Given the description of an element on the screen output the (x, y) to click on. 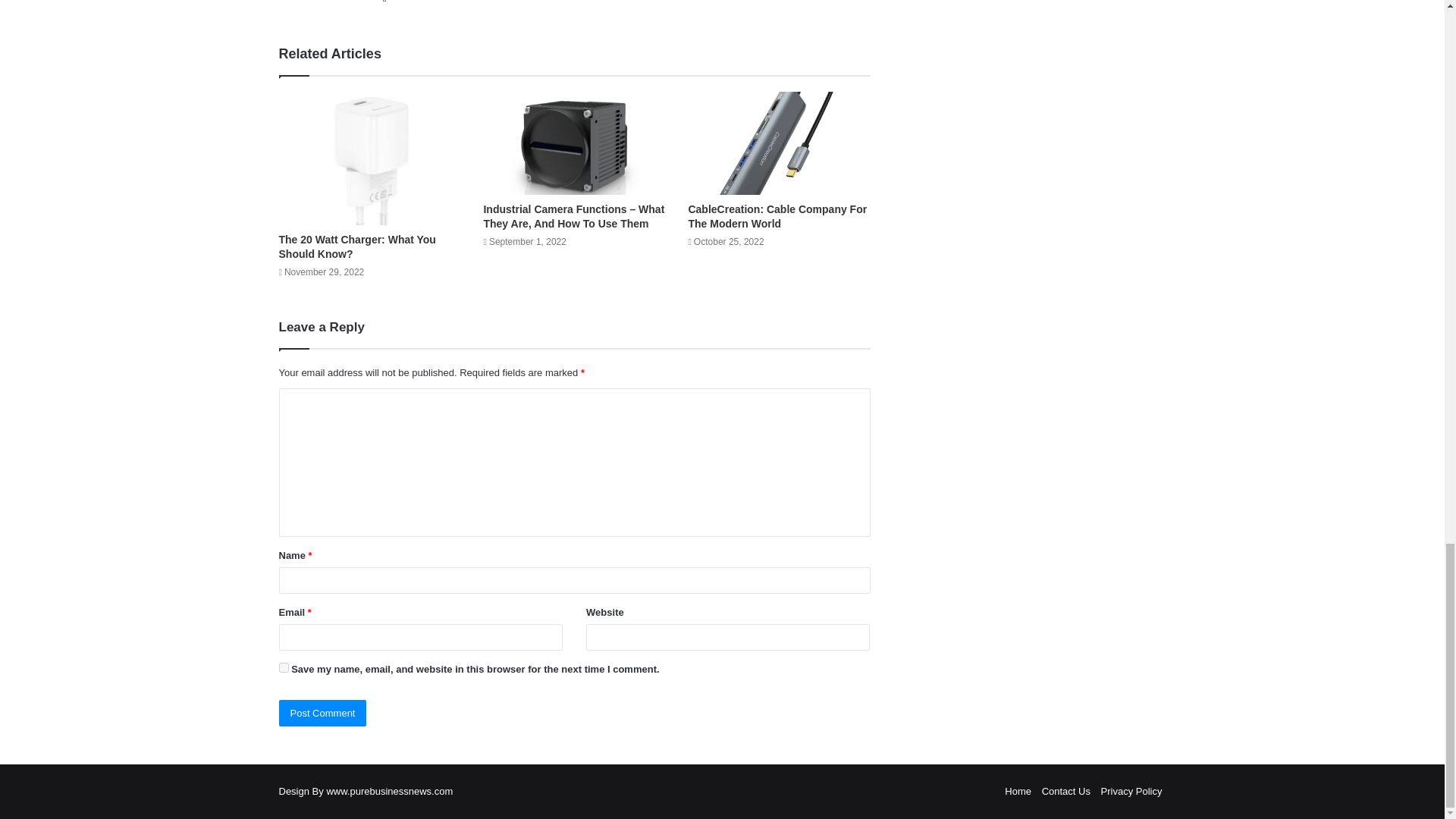
Website (384, 3)
yes (283, 667)
The 20 Watt Charger: What You Should Know? (357, 246)
Post Comment (322, 713)
